Given the description of an element on the screen output the (x, y) to click on. 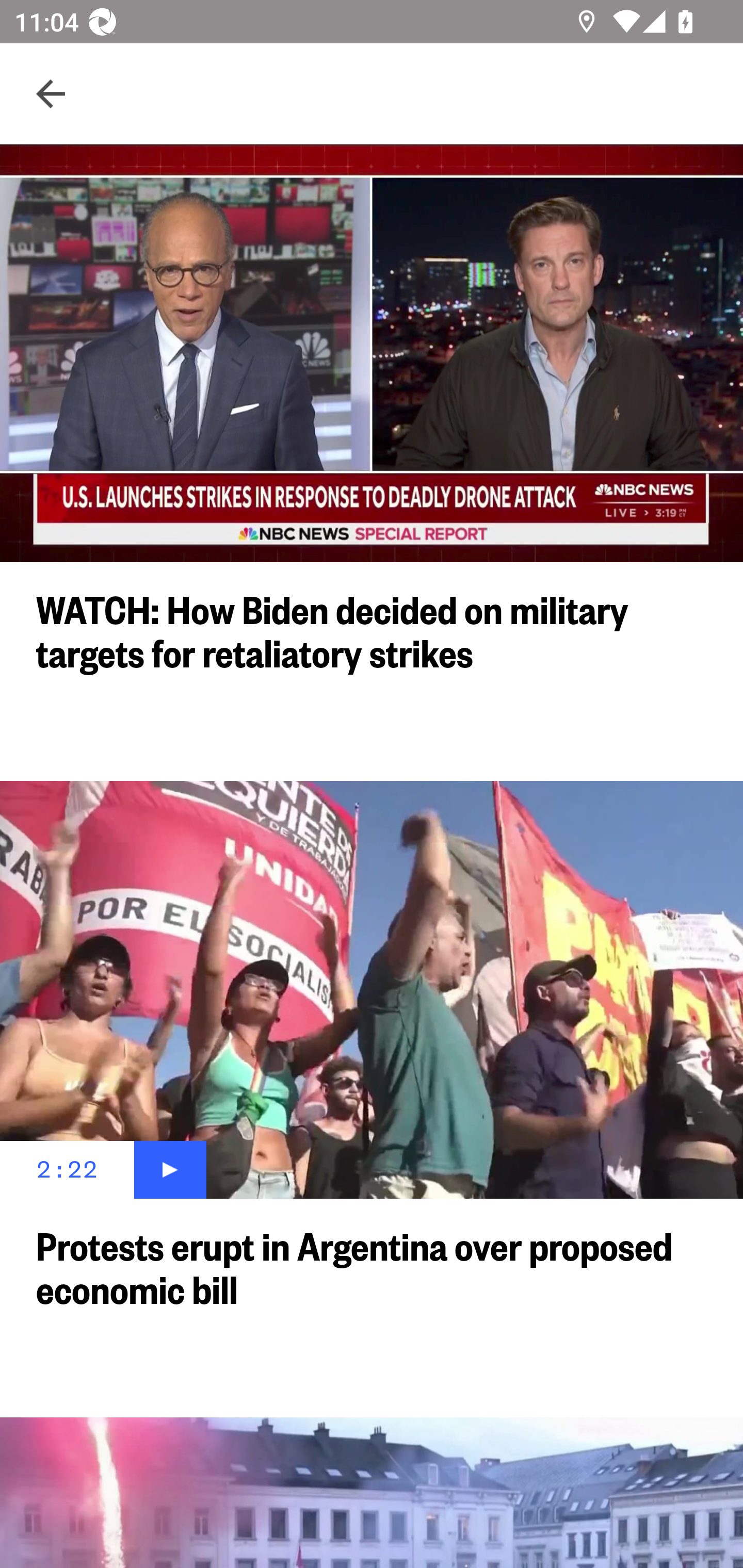
Navigate up (50, 93)
